Given the description of an element on the screen output the (x, y) to click on. 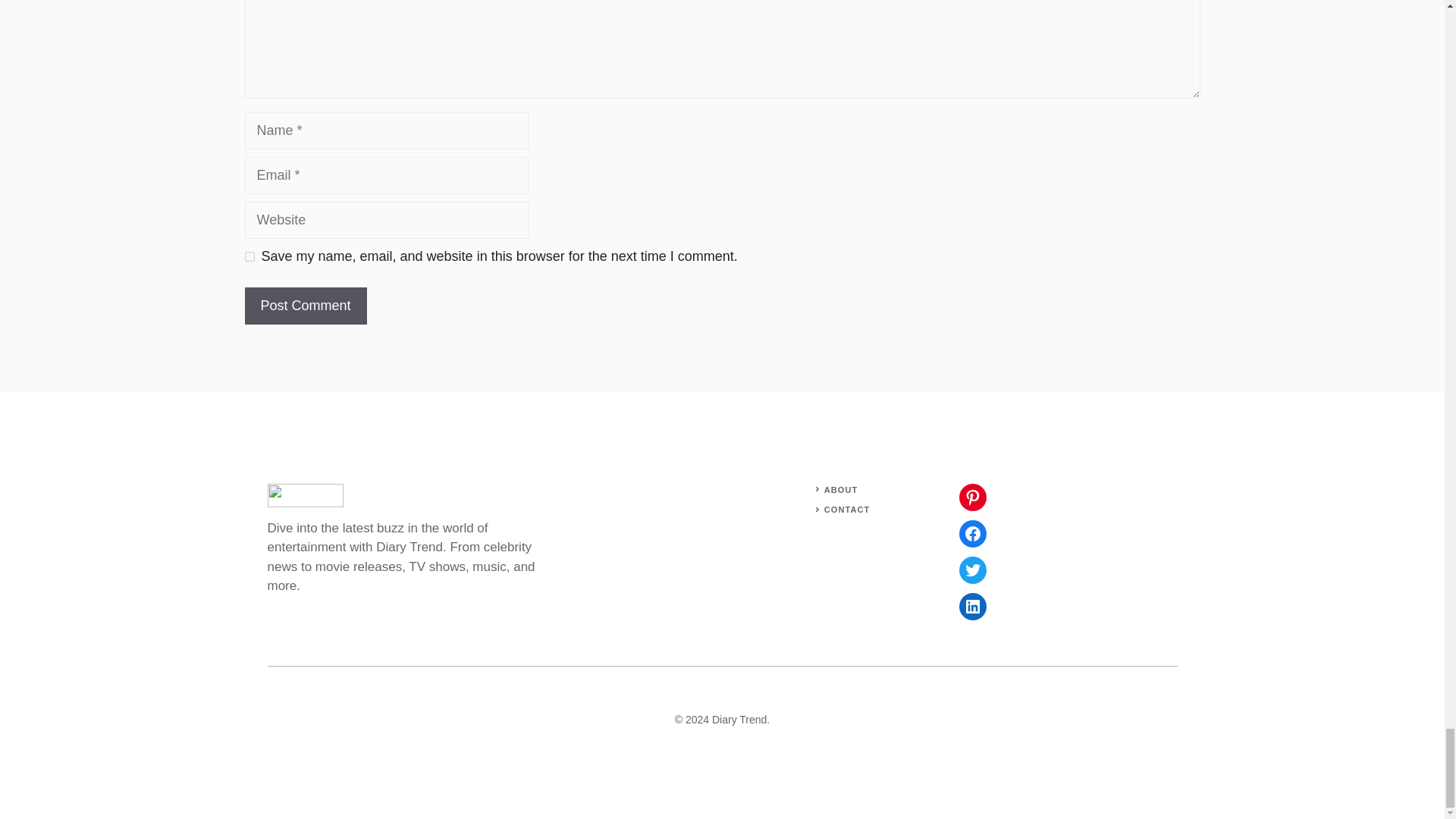
yes (248, 256)
Diary Trend (739, 719)
Twitter (971, 569)
Facebook (971, 533)
Post Comment (305, 305)
ABOUT (841, 489)
Post Comment (305, 305)
CONTACT (847, 509)
Pinterest (971, 497)
LinkedIn (971, 605)
